Given the description of an element on the screen output the (x, y) to click on. 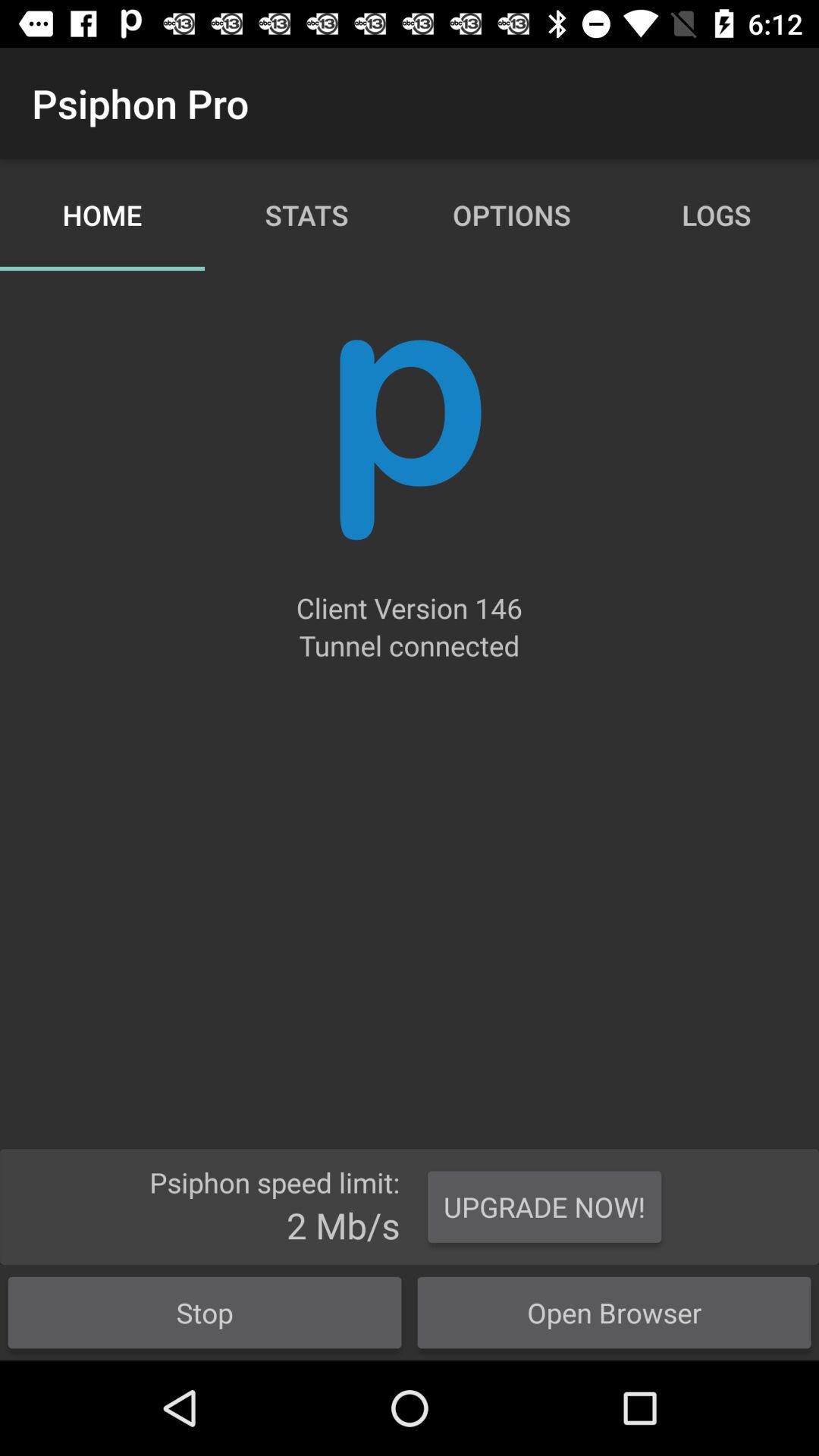
open the button next to the open browser button (204, 1312)
